Given the description of an element on the screen output the (x, y) to click on. 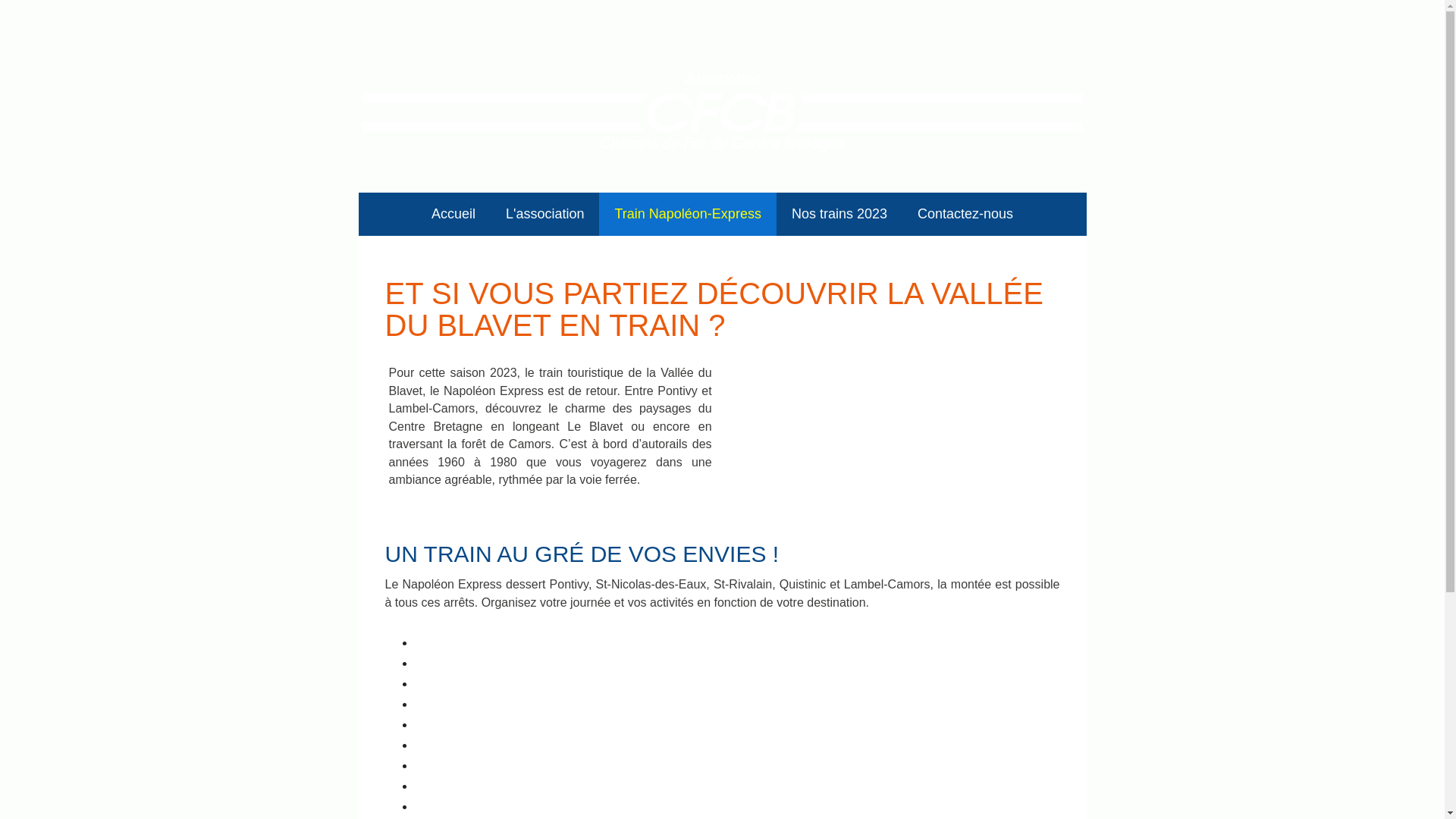
Contactez-nous Element type: text (965, 213)
L'association Element type: text (544, 213)
Accueil Element type: text (453, 213)
Nos trains 2023 Element type: text (839, 213)
